Given the description of an element on the screen output the (x, y) to click on. 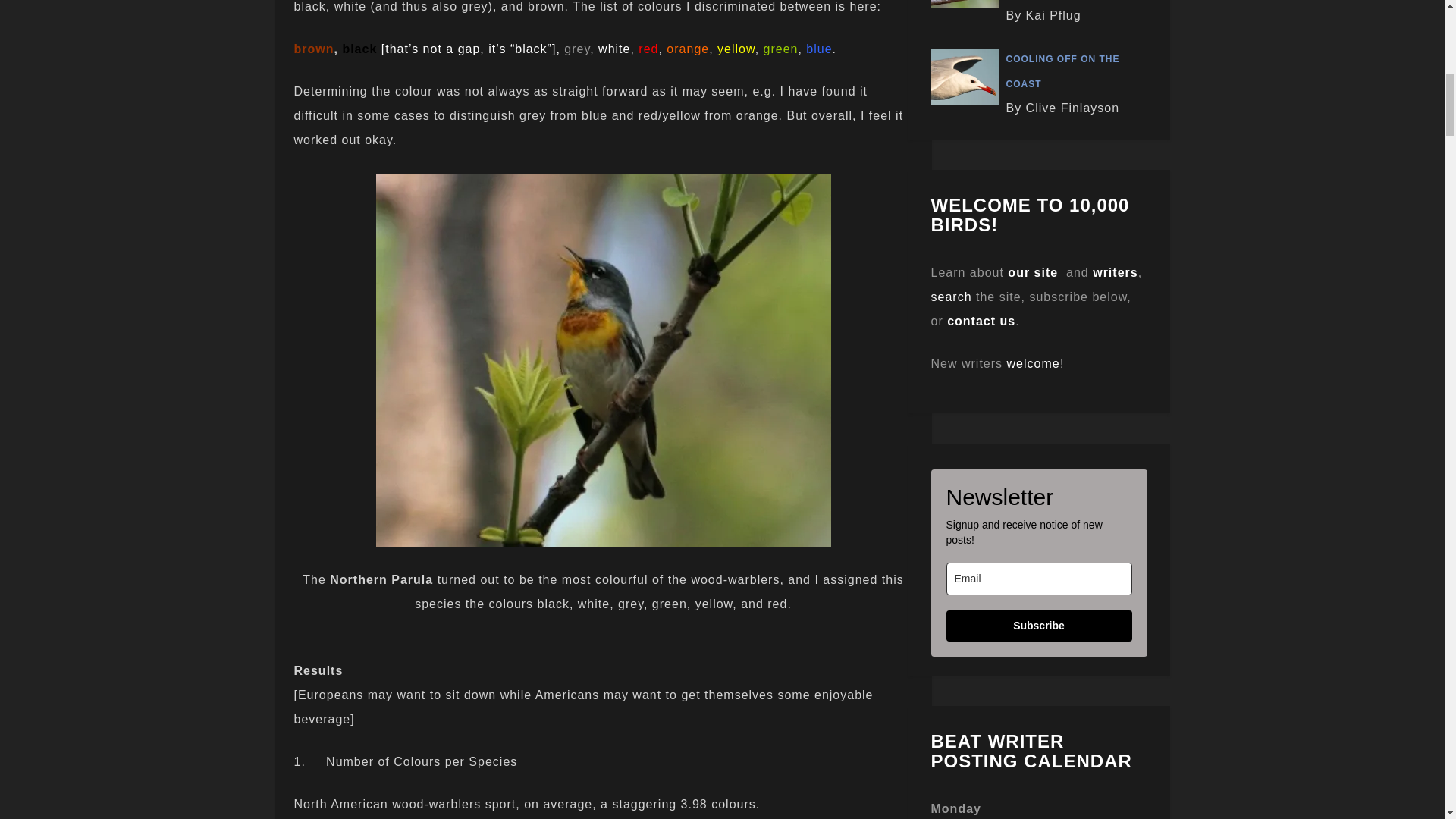
About 10,000 Birds (1032, 272)
About the 10,000 Birds Beat Writers (1115, 272)
